Given the description of an element on the screen output the (x, y) to click on. 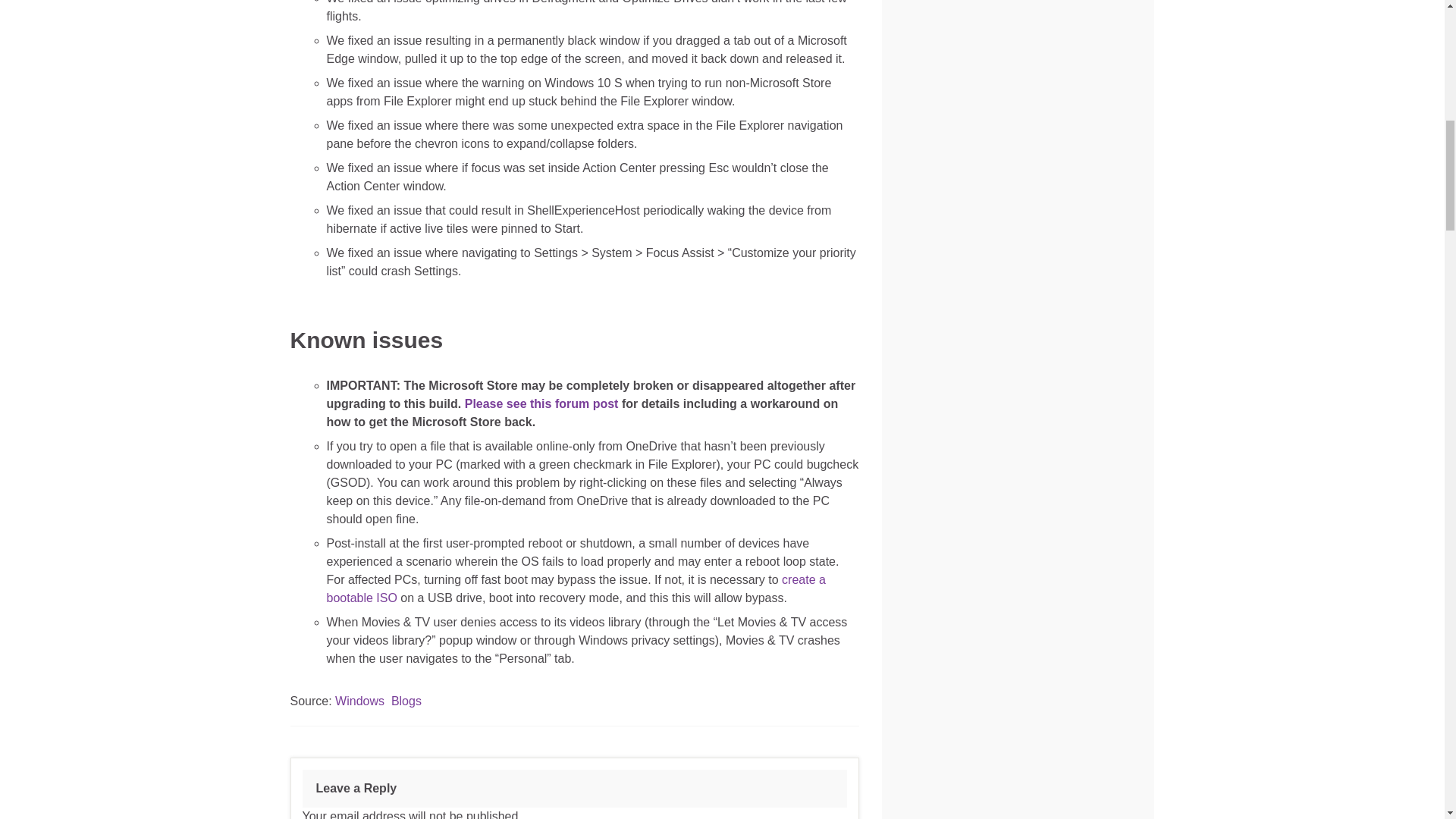
Please see this forum post (541, 403)
View my verified achievement on Credly. (953, 79)
View my verified achievement on Credly. (1074, 267)
View my verified achievement on Credly. (953, 687)
View my verified achievement on Credly. (953, 477)
View my verified achievement on Credly. (1074, 79)
Windows  Blogs (378, 700)
View my verified achievement on Credly. (953, 267)
create a bootable ISO (575, 588)
View my verified achievement on Credly. (1074, 477)
